Given the description of an element on the screen output the (x, y) to click on. 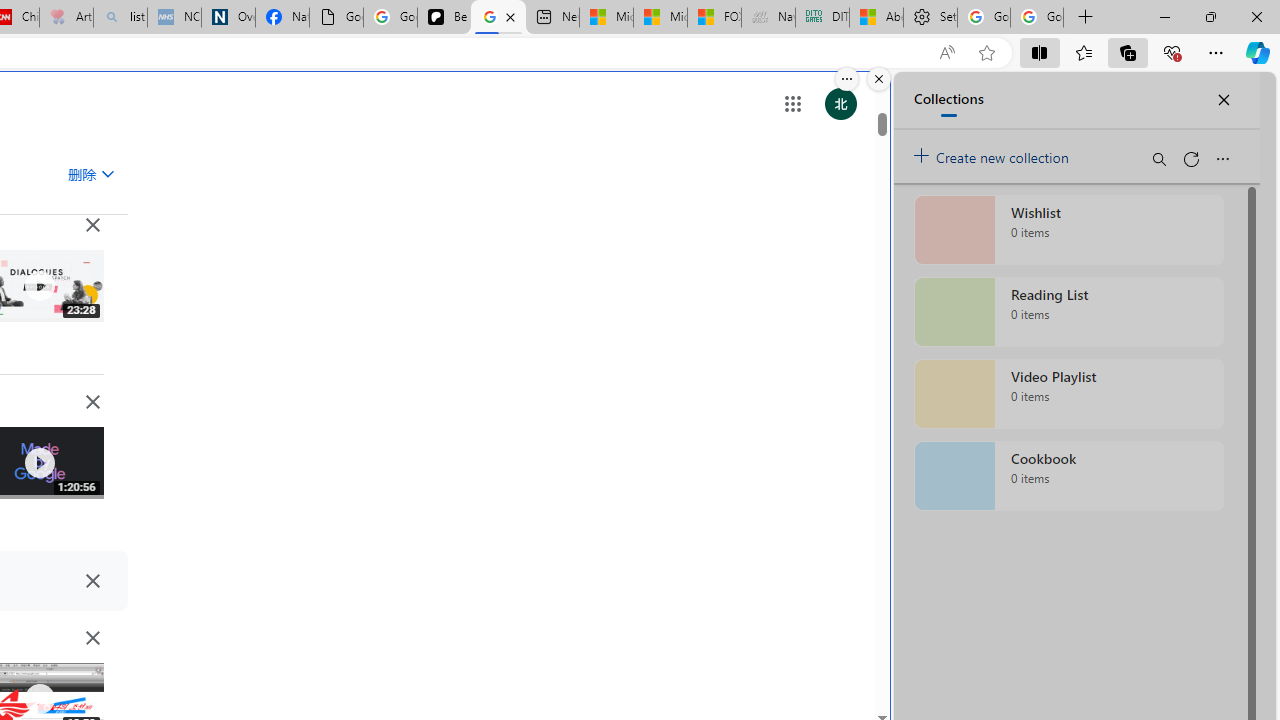
Be Smart | creating Science videos | Patreon (444, 17)
Class: DI7Mnf NMm5M (91, 580)
Close split screen. (878, 79)
Class: gb_E (792, 103)
